Given the description of an element on the screen output the (x, y) to click on. 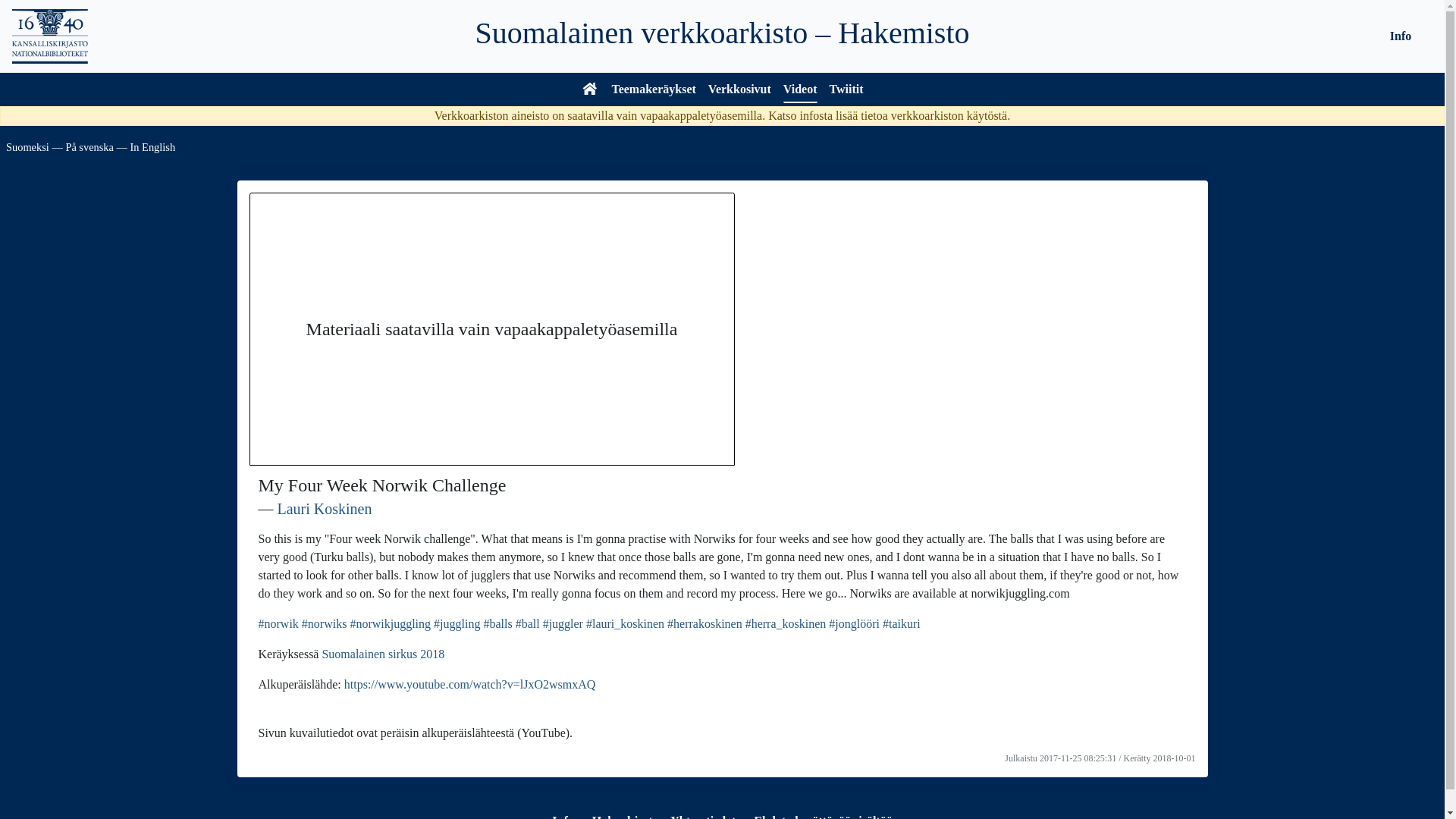
Info (562, 816)
Suomeksi (27, 146)
Suomalainen sirkus 2018 (382, 653)
Verkkosivut (739, 90)
Videot (799, 90)
Lauri Koskinen (325, 508)
In English (153, 146)
Yhteystiedot (702, 816)
Twiitit (846, 90)
Hakuohjeet (622, 816)
